Given the description of an element on the screen output the (x, y) to click on. 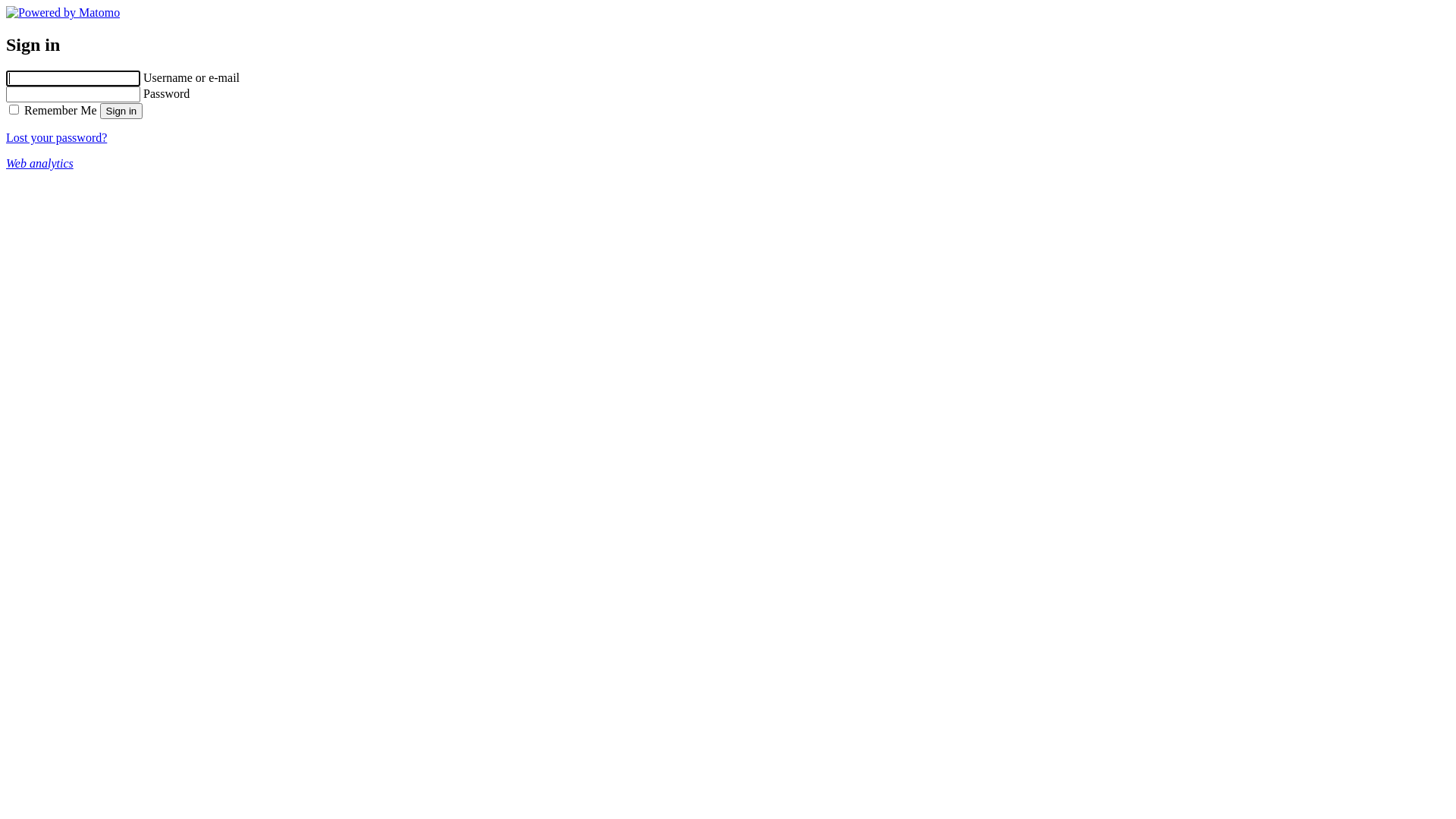
Web analytics Element type: text (39, 162)
Sign in Element type: text (121, 111)
Powered by Matomo Element type: hover (62, 12)
Lost your password? Element type: text (56, 137)
